Given the description of an element on the screen output the (x, y) to click on. 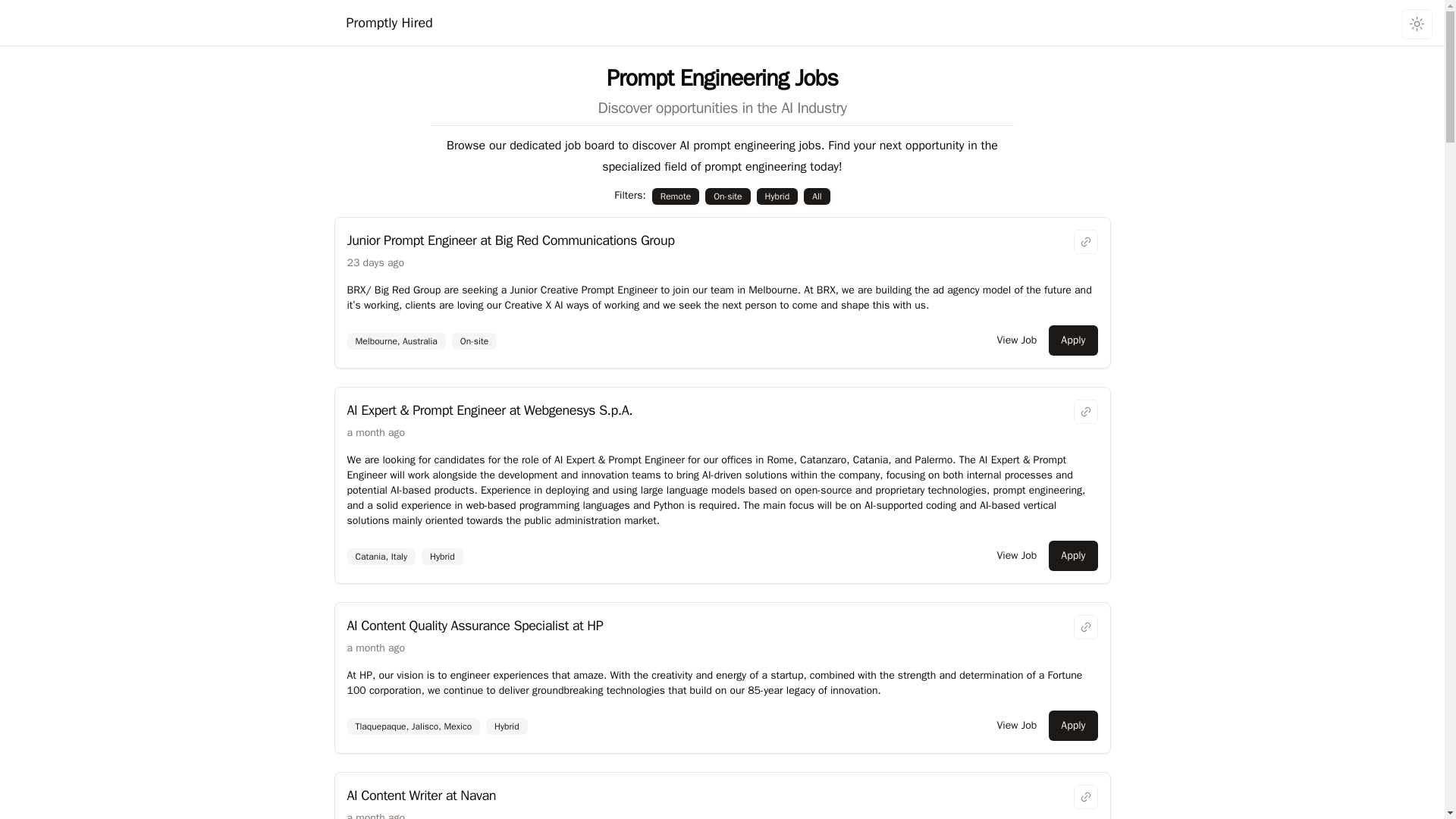
Posted on July 2, 2024 (376, 815)
Prompt Engineering Jobs (721, 77)
All (816, 195)
Remote (676, 195)
Toggle theme (1417, 24)
Apply (1072, 340)
Promptly Hired (389, 22)
Posted on July 3, 2024 (376, 431)
Hybrid (442, 556)
On-site (726, 195)
View Job (1016, 340)
Apply (1072, 725)
On-site (473, 340)
Hybrid (777, 195)
Apply (1072, 555)
